Given the description of an element on the screen output the (x, y) to click on. 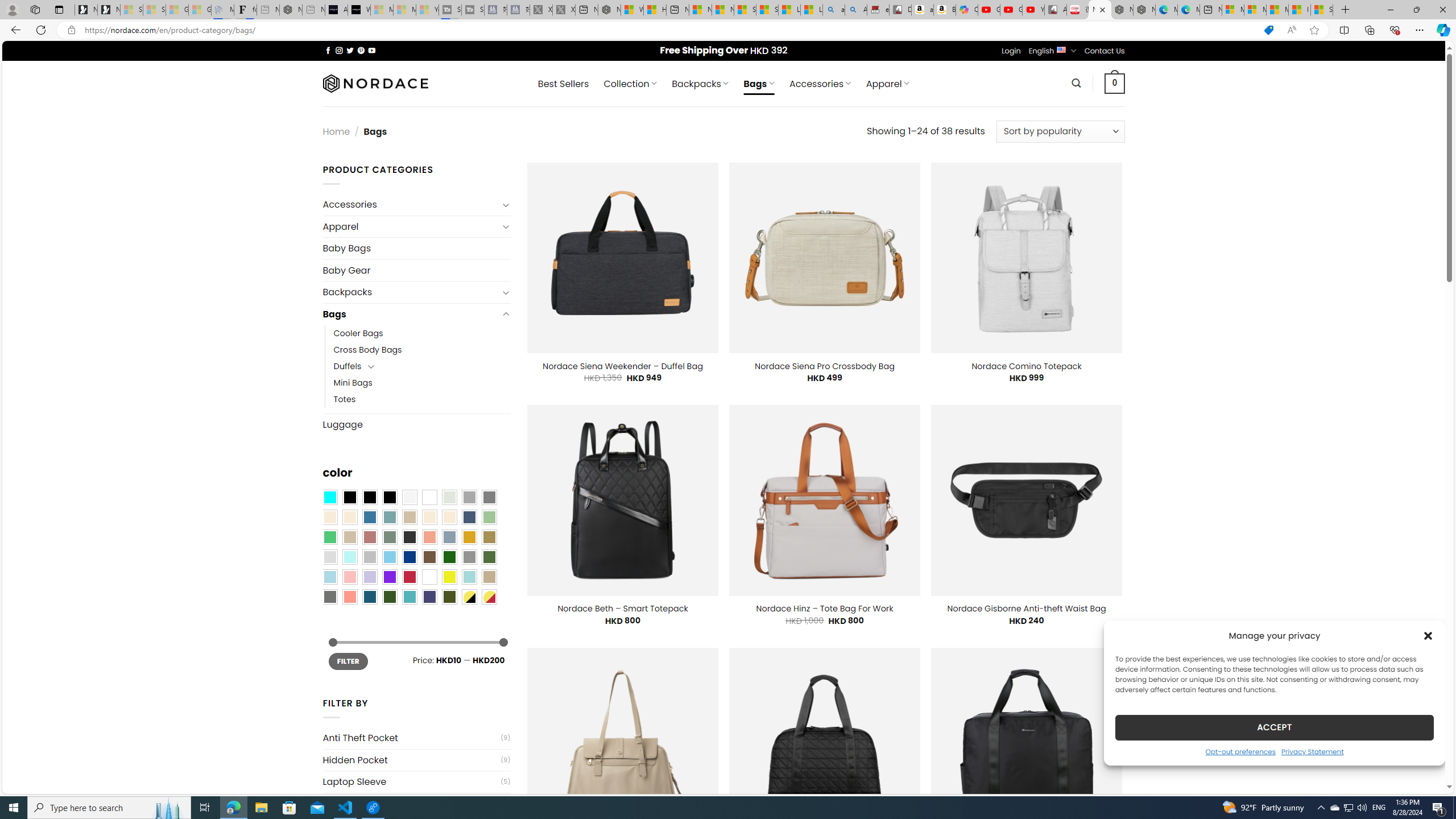
All Cubot phones (1055, 9)
Forest (389, 596)
Apparel (410, 226)
Teal (408, 596)
AI Voice Changer for PC and Mac - Voice.ai (336, 9)
 0  (1115, 83)
 Best Sellers (563, 83)
Hale Navy (468, 517)
Yellow-Black (468, 596)
YouTube Kids - An App Created for Kids to Explore Content (1033, 9)
